Given the description of an element on the screen output the (x, y) to click on. 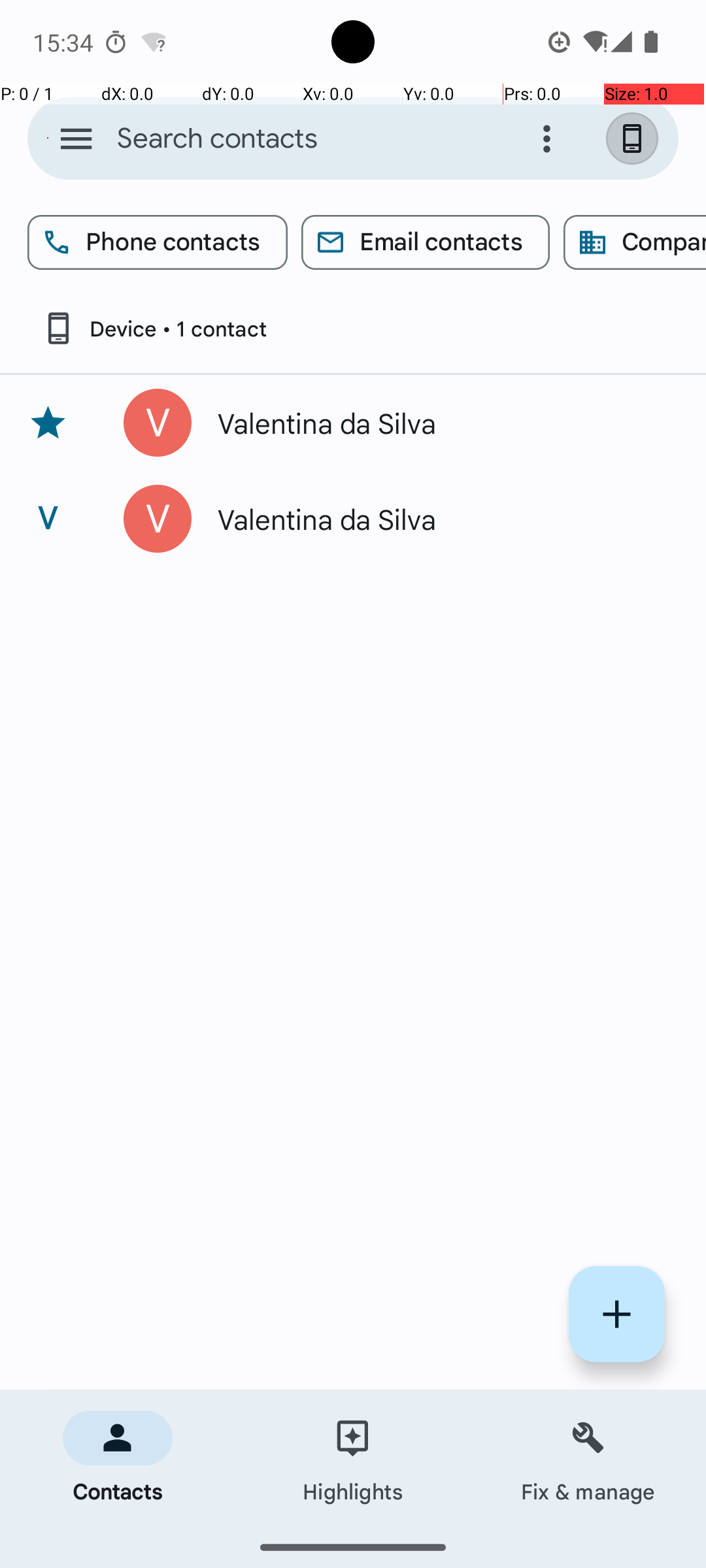
Device • 1 contact Element type: android.widget.TextView (153, 328)
Valentina da Silva Element type: android.widget.TextView (434, 422)
